Given the description of an element on the screen output the (x, y) to click on. 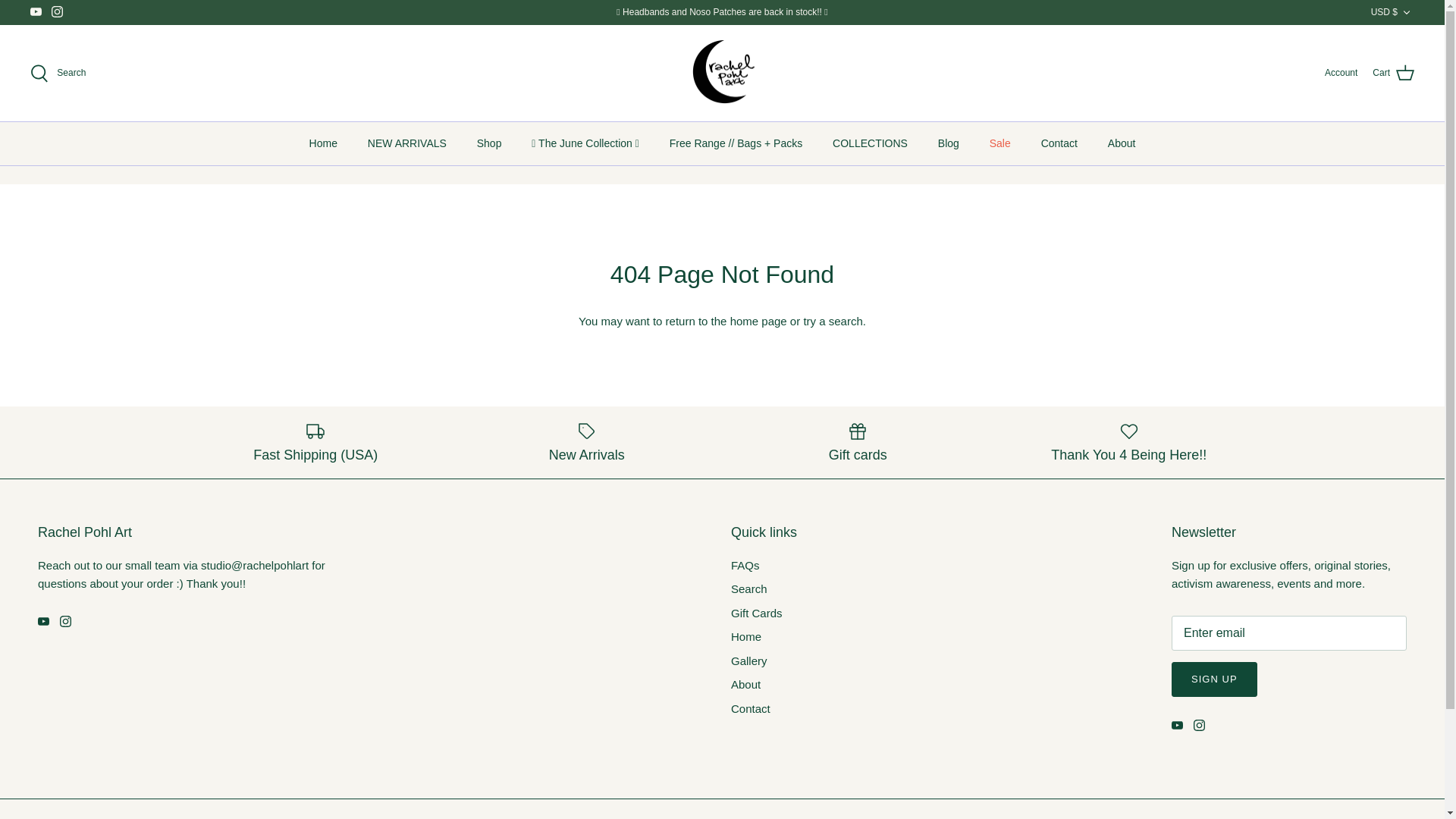
Instagram (1199, 725)
Instagram (65, 621)
Instagram (56, 11)
Youtube (36, 11)
Youtube (43, 621)
Instagram (56, 11)
Down (1406, 12)
Youtube (36, 11)
Label (586, 431)
Rachel Pohl Art  (722, 73)
Youtube (1177, 725)
